Given the description of an element on the screen output the (x, y) to click on. 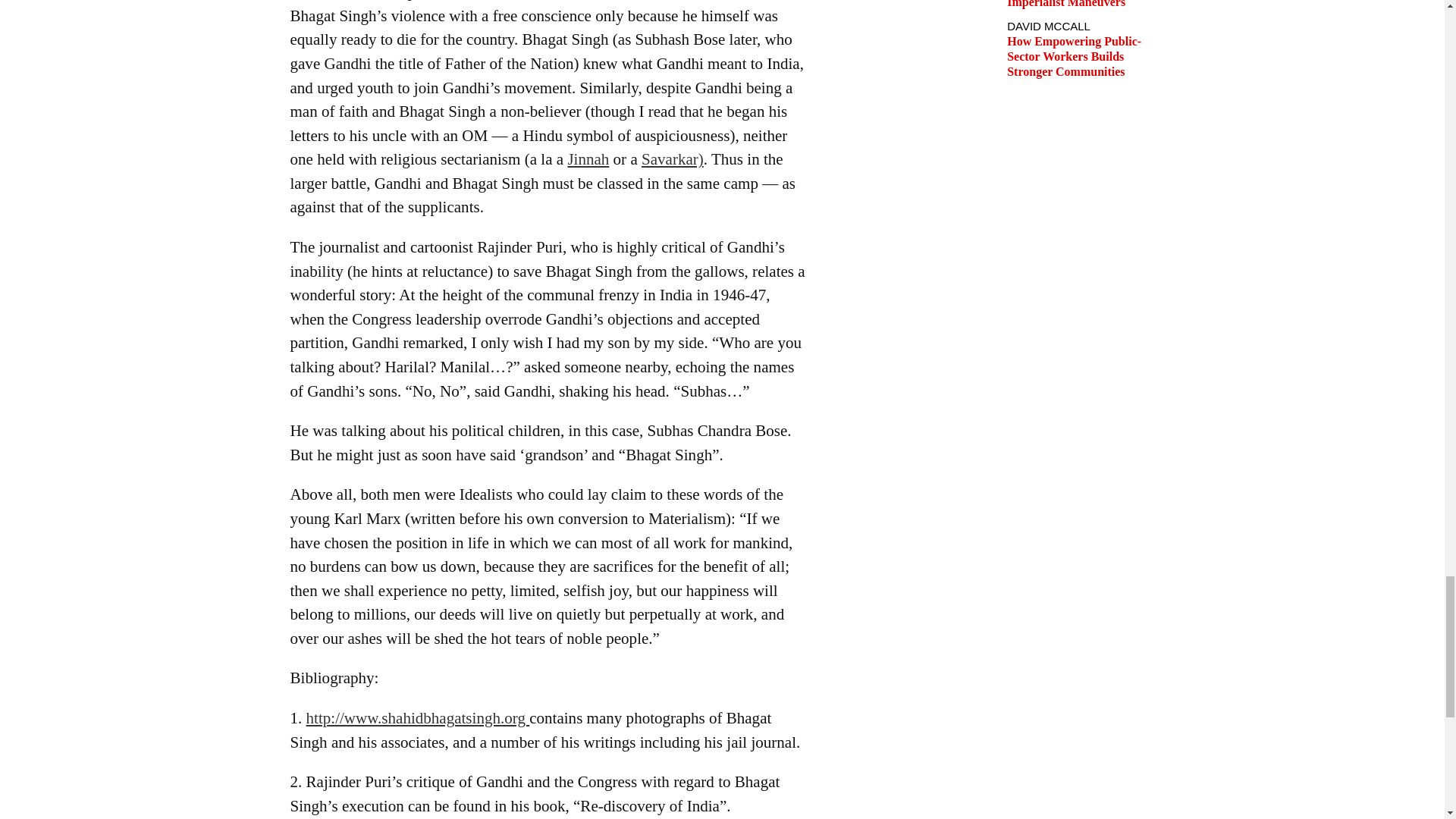
Jinnah (587, 158)
